Given the description of an element on the screen output the (x, y) to click on. 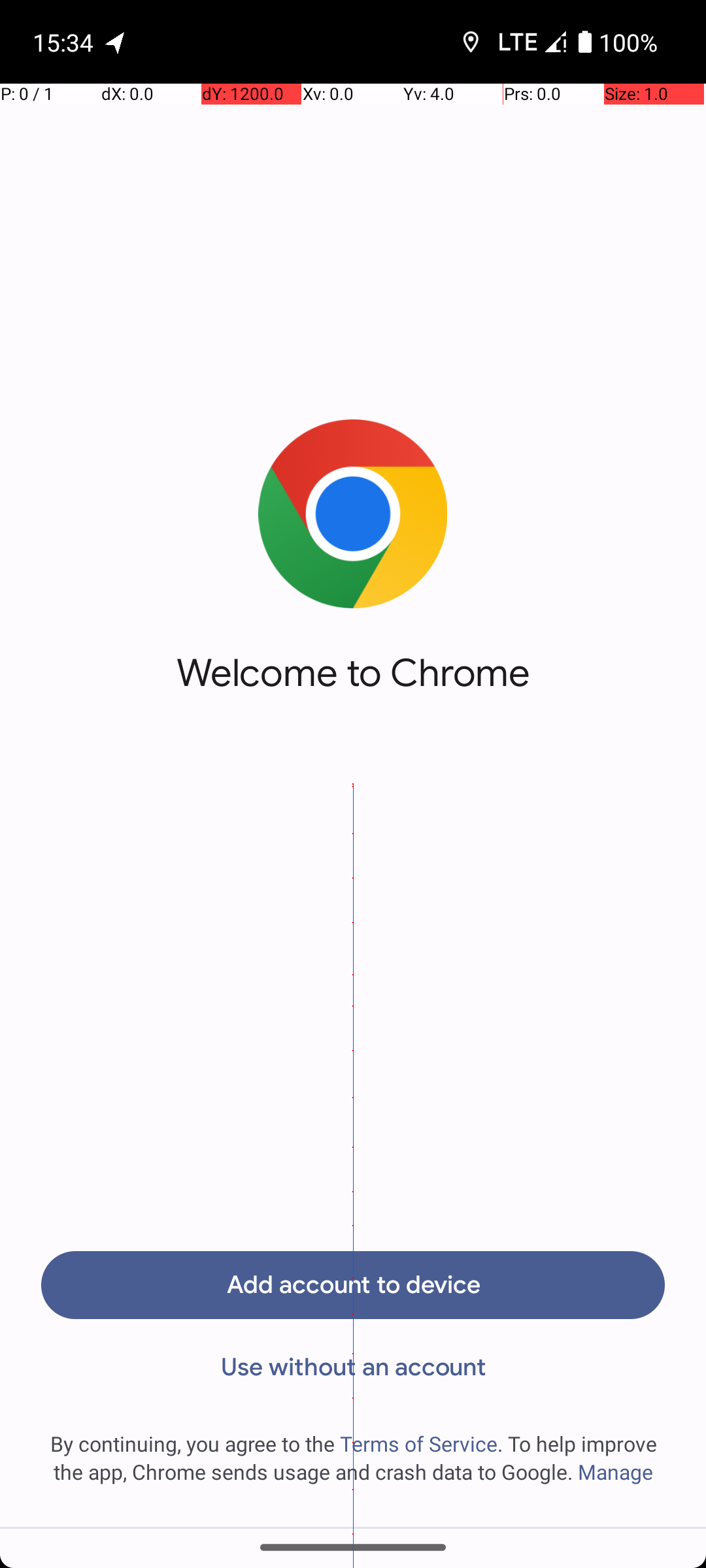
OpenTracks notification:  Element type: android.widget.ImageView (115, 41)
